Given the description of an element on the screen output the (x, y) to click on. 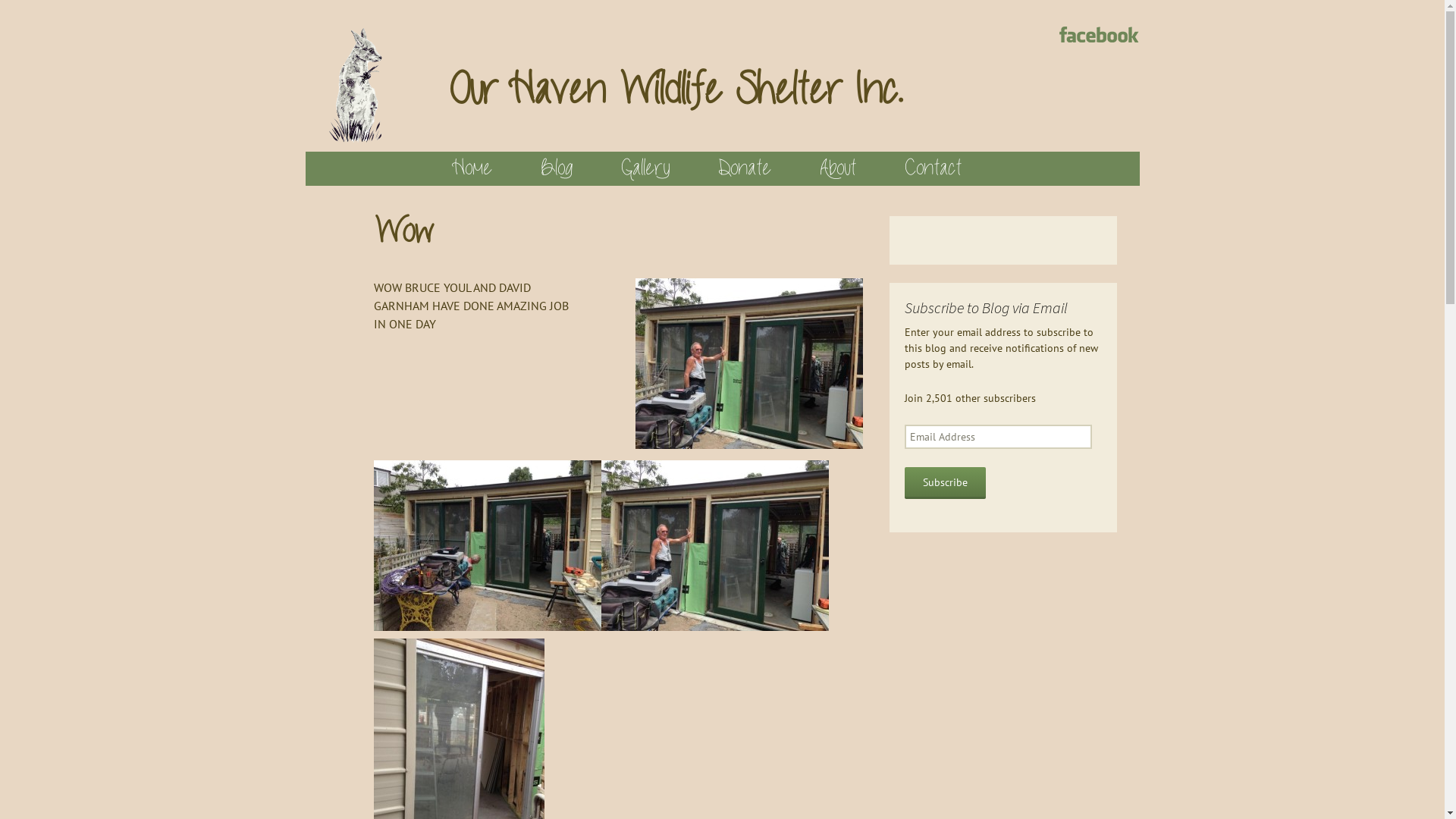
Our Haven Wildlife Shelter Inc. Element type: text (721, 75)
Subscribe Element type: text (944, 482)
Donate Element type: text (743, 168)
About Element type: text (837, 168)
Blog Element type: text (555, 168)
Gallery Element type: text (644, 168)
Home Element type: text (472, 168)
Skip to content Element type: text (312, 150)
Contact Element type: text (932, 168)
